Given the description of an element on the screen output the (x, y) to click on. 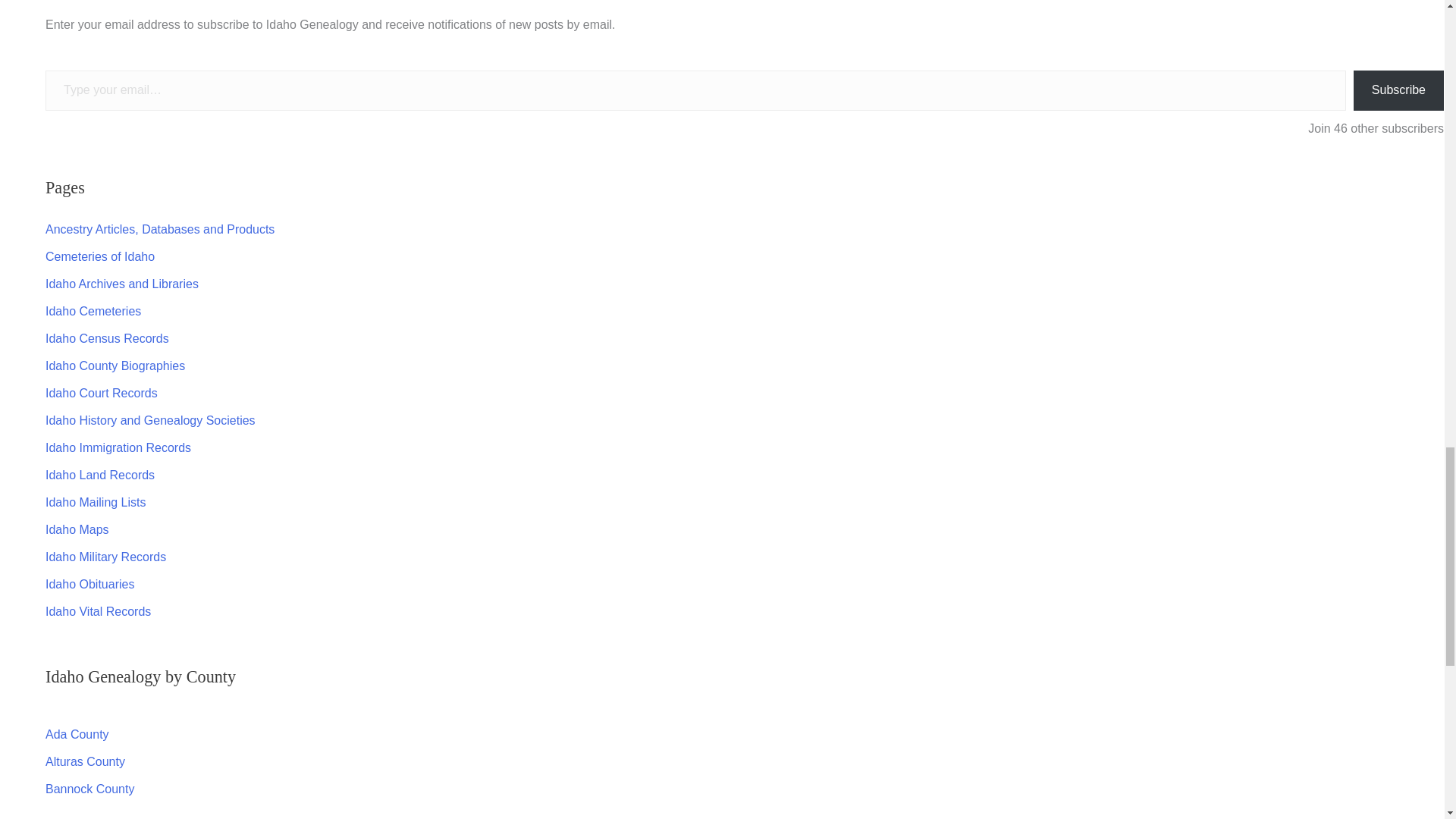
Idaho Land Records (99, 474)
Idaho History and Genealogy Societies (150, 420)
Ancestry Articles, Databases and Products (160, 228)
Idaho Census Records (106, 338)
Idaho Court Records (101, 392)
Idaho Archives and Libraries (121, 283)
Idaho Mailing Lists (96, 502)
Idaho Cemeteries (93, 310)
Please fill in this field. (695, 90)
Cemeteries of Idaho (99, 256)
Idaho County Biographies (114, 365)
Idaho Immigration Records (117, 447)
Subscribe (1399, 90)
